Given the description of an element on the screen output the (x, y) to click on. 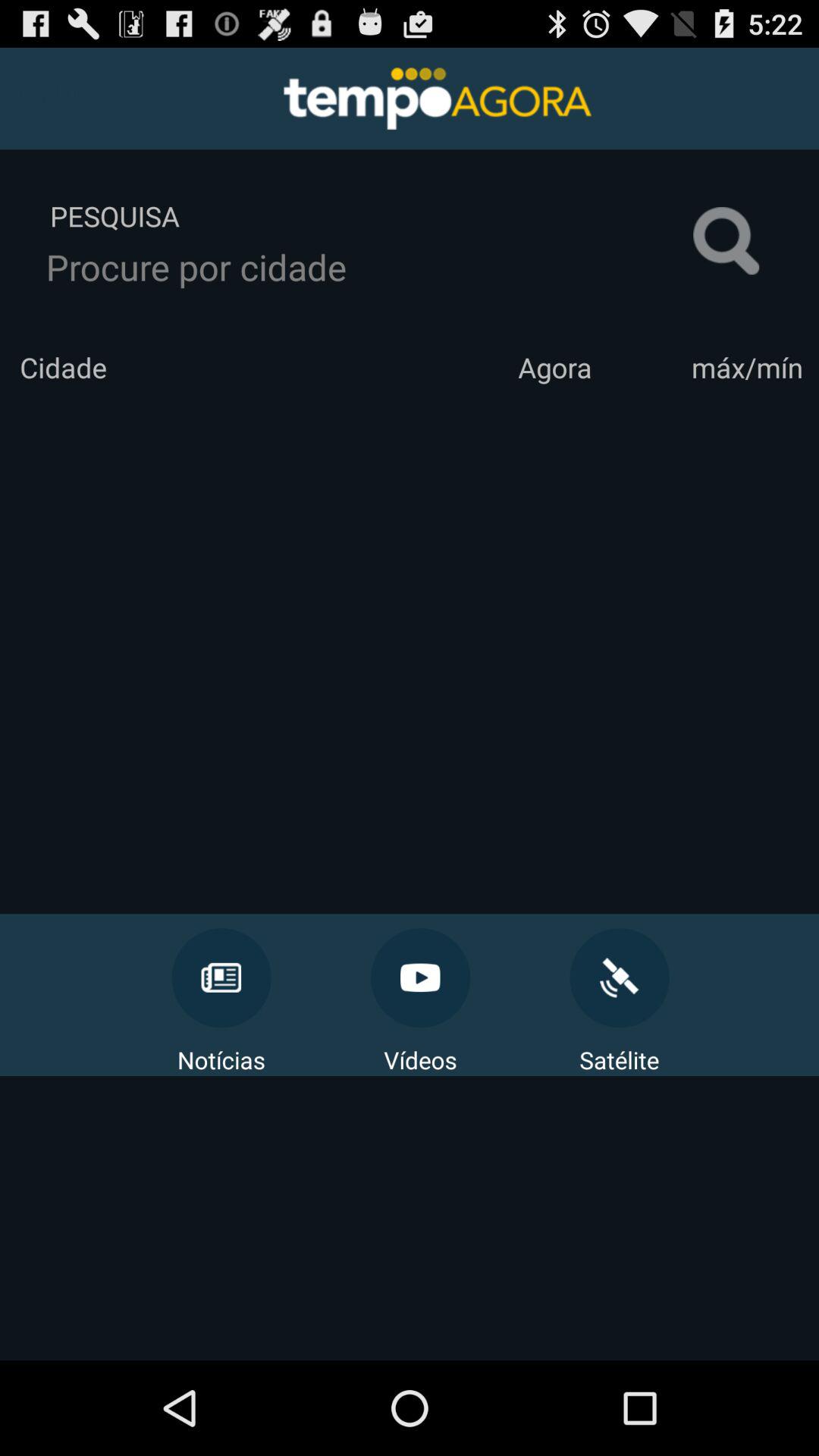
select app above pesquisa item (47, 95)
